Given the description of an element on the screen output the (x, y) to click on. 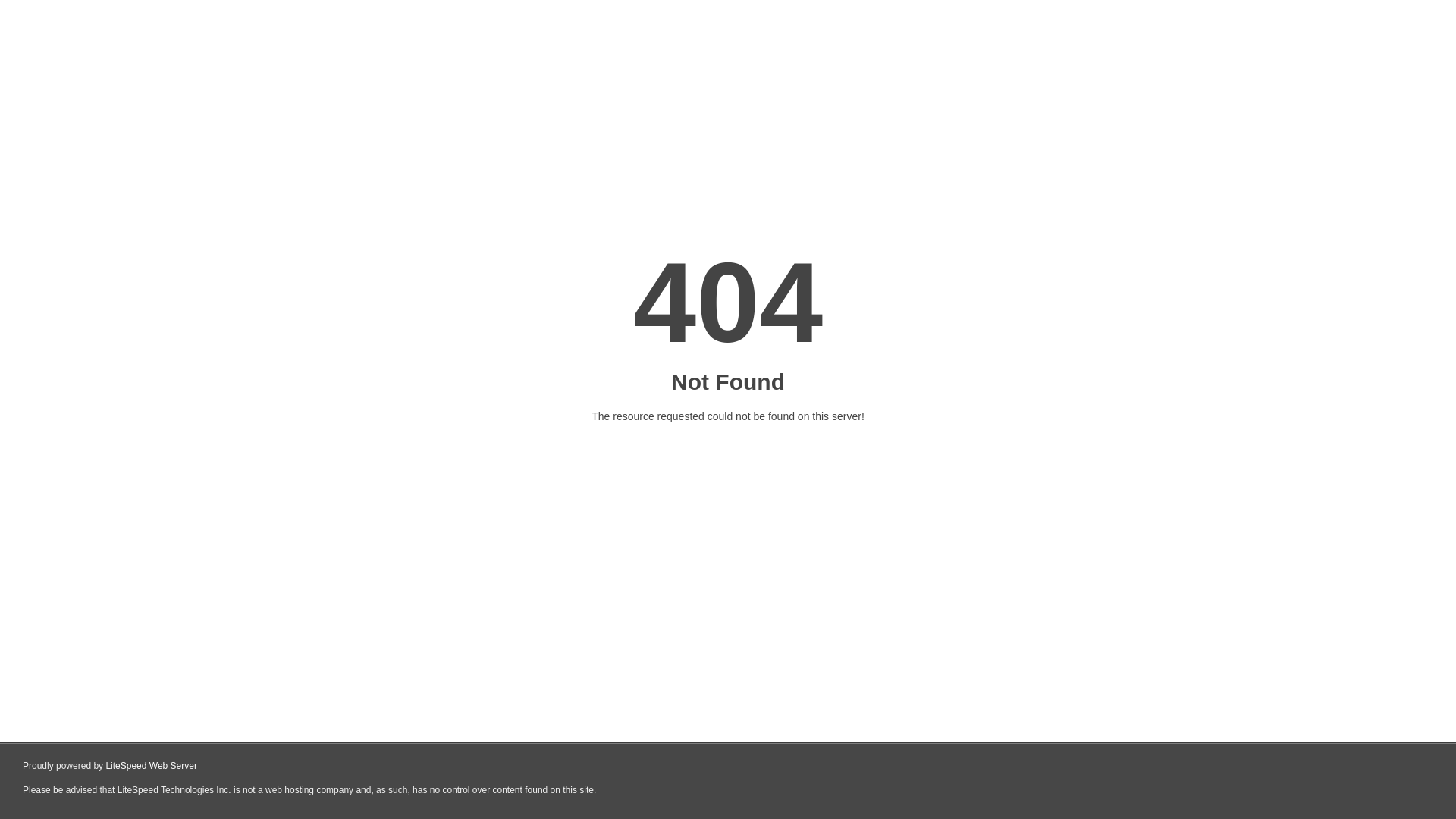
LiteSpeed Web Server Element type: text (151, 765)
